Given the description of an element on the screen output the (x, y) to click on. 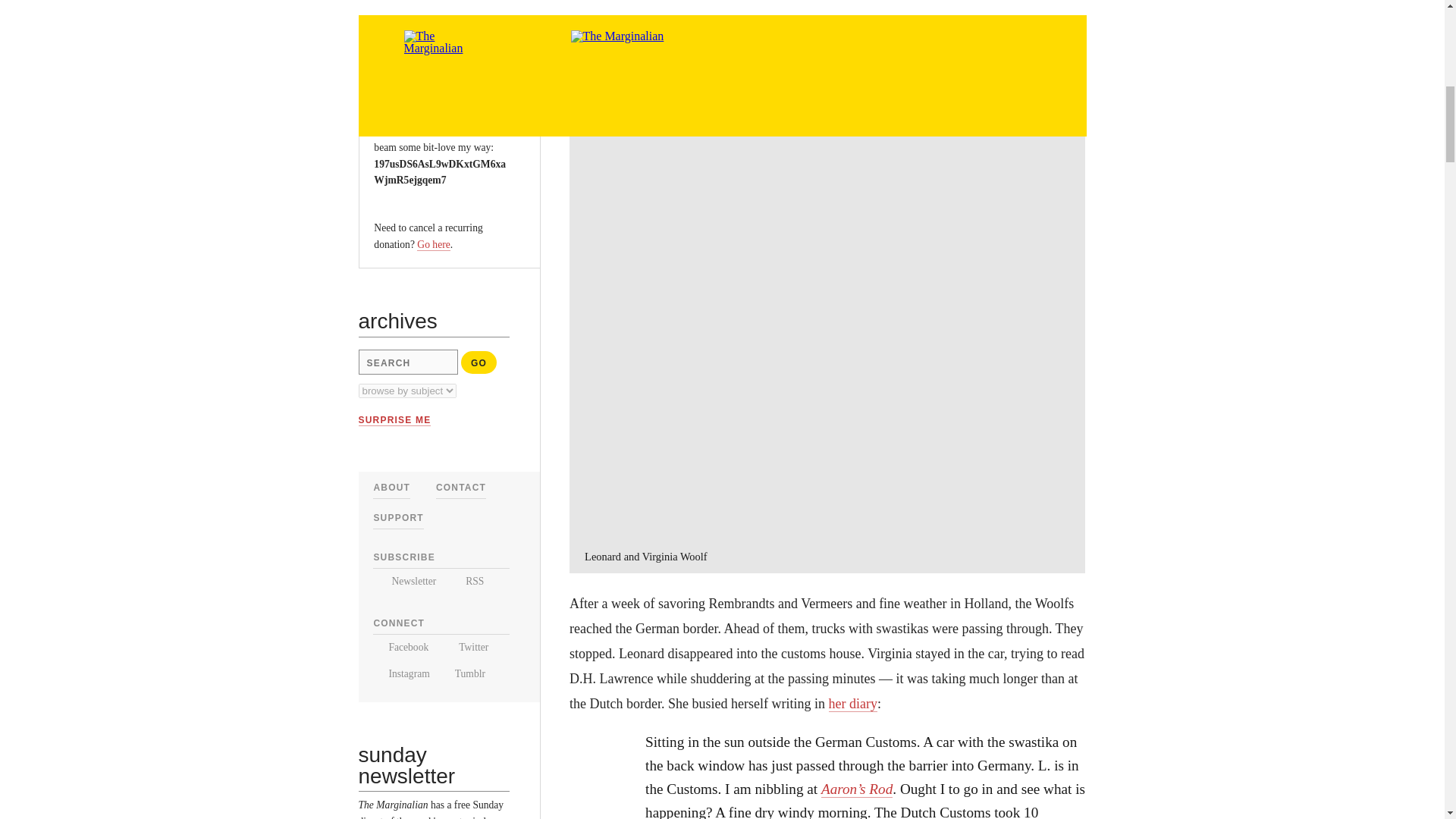
SUPPORT (397, 517)
Go (478, 362)
Facebook (400, 646)
Instagram (400, 673)
GIVE NOW (410, 53)
CONTACT (460, 487)
Go here (432, 244)
RSS (466, 581)
Newsletter (403, 581)
ABOUT (391, 487)
